Given the description of an element on the screen output the (x, y) to click on. 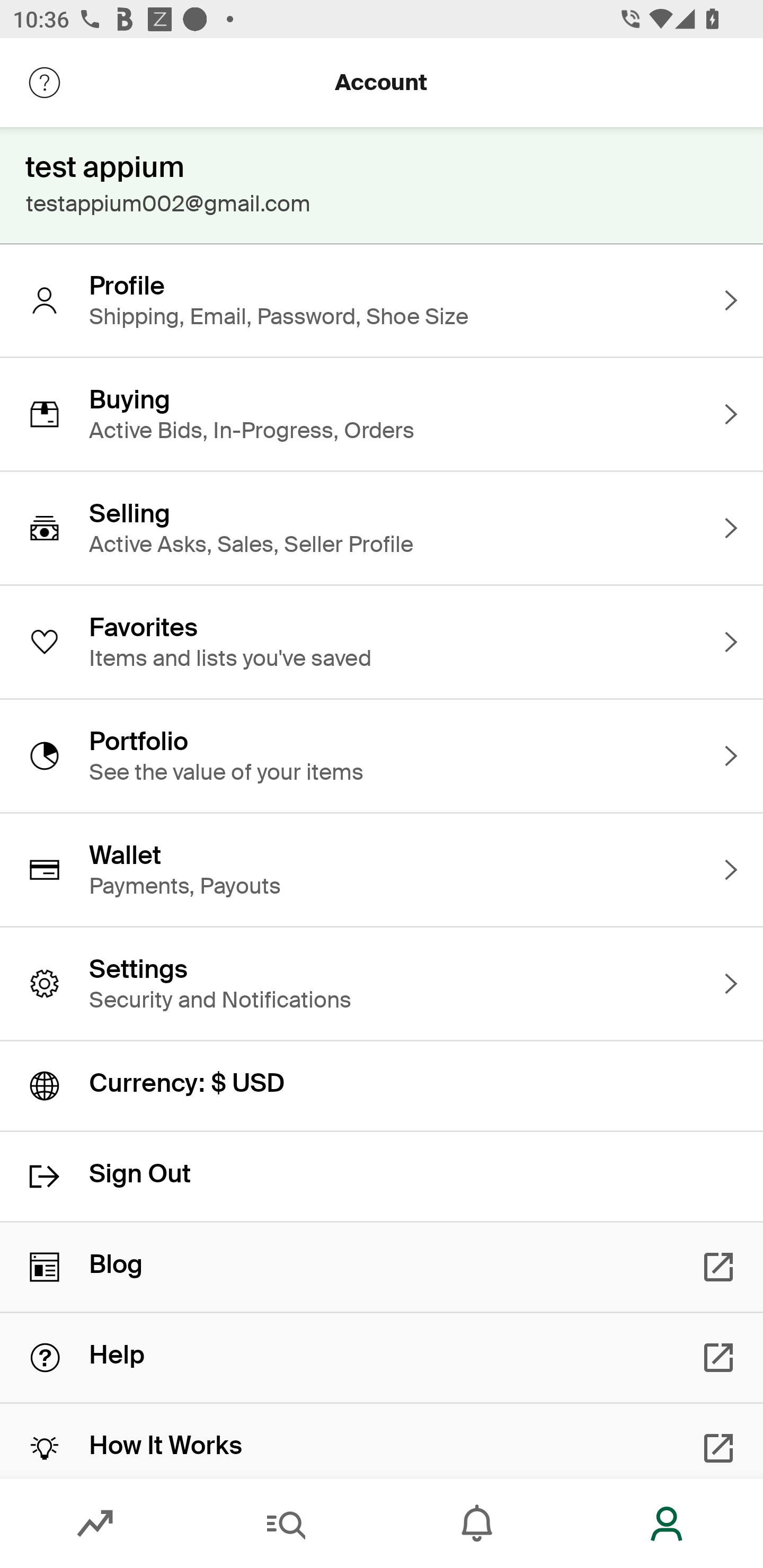
Profile Shipping, Email, Password, Shoe Size (381, 299)
Buying Active Bids, In-Progress, Orders (381, 413)
Selling Active Asks, Sales, Seller Profile (381, 527)
Favorites Items and lists you've saved (381, 641)
Portfolio See the value of your items (381, 755)
Wallet Payments, Payouts (381, 869)
Settings Security and Notifications (381, 983)
Currency: $ USD (381, 1085)
Sign Out (381, 1176)
Blog (381, 1266)
Help (381, 1357)
How It Works (381, 1440)
Market (95, 1523)
Search (285, 1523)
Inbox (476, 1523)
